Given the description of an element on the screen output the (x, y) to click on. 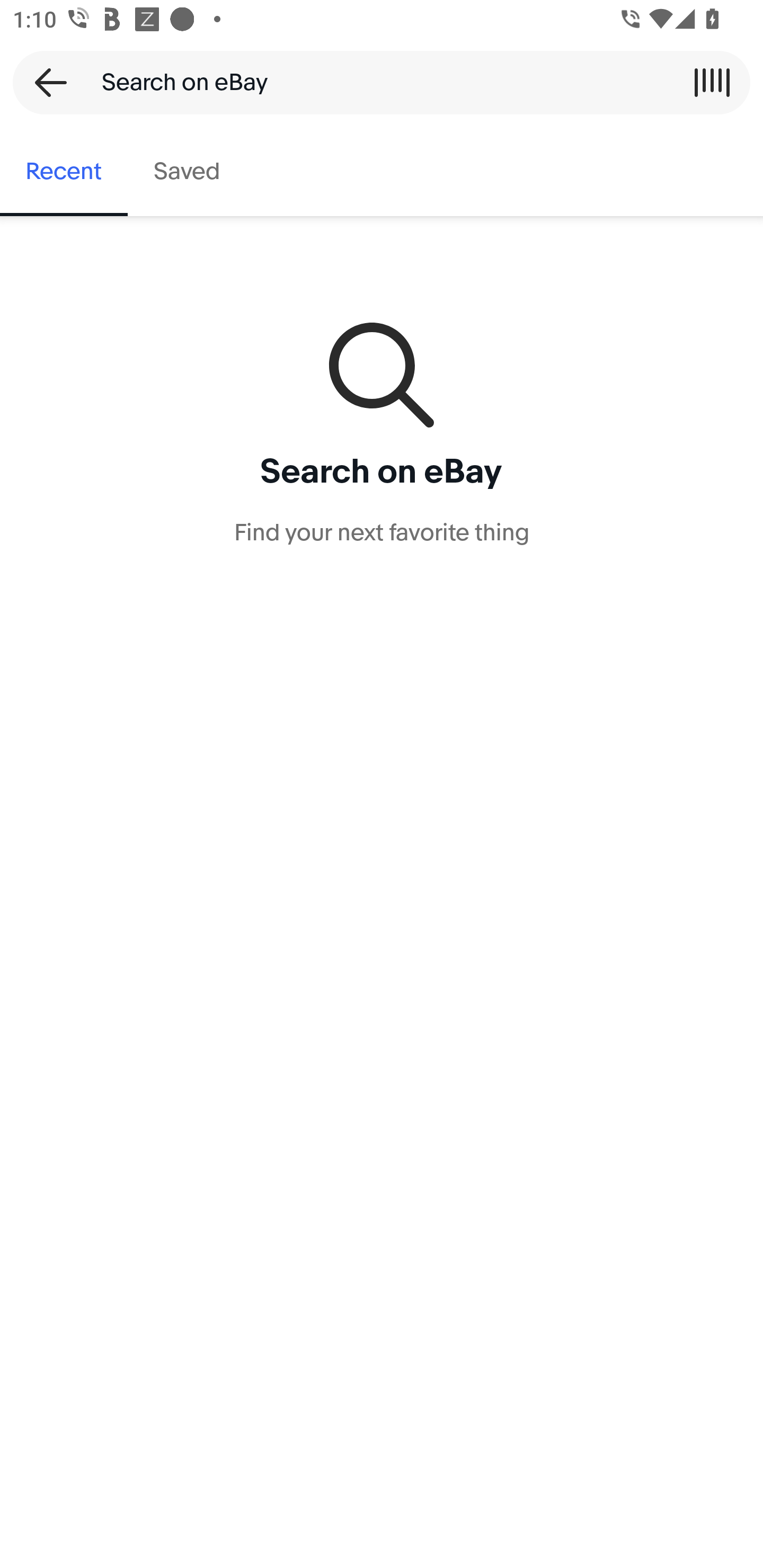
Back (44, 82)
Scan a barcode (711, 82)
Search on eBay (375, 82)
Saved, tab 2 of 2 Saved (186, 171)
